Given the description of an element on the screen output the (x, y) to click on. 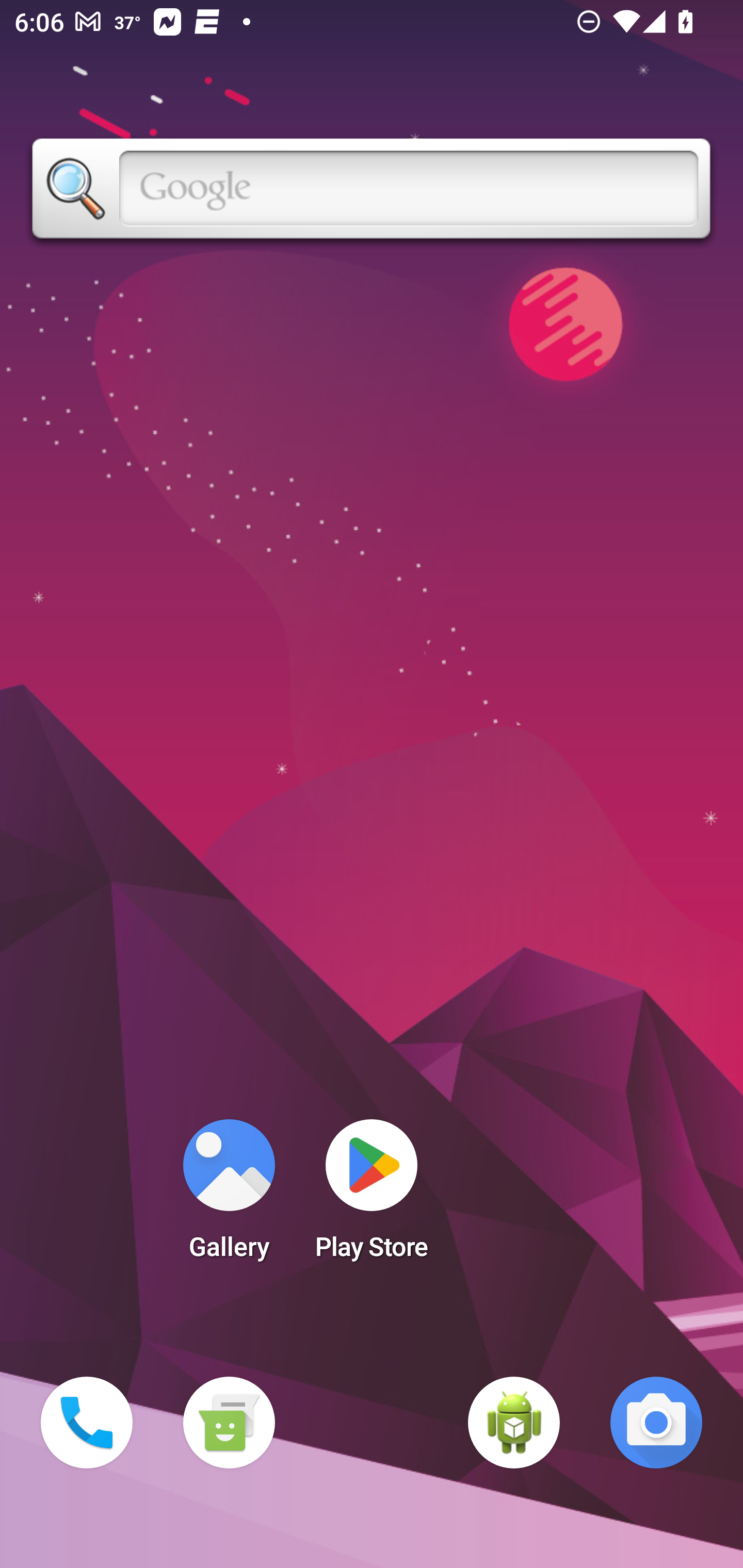
Gallery (228, 1195)
Play Store (371, 1195)
Phone (86, 1422)
Messaging (228, 1422)
WebView Browser Tester (513, 1422)
Camera (656, 1422)
